Given the description of an element on the screen output the (x, y) to click on. 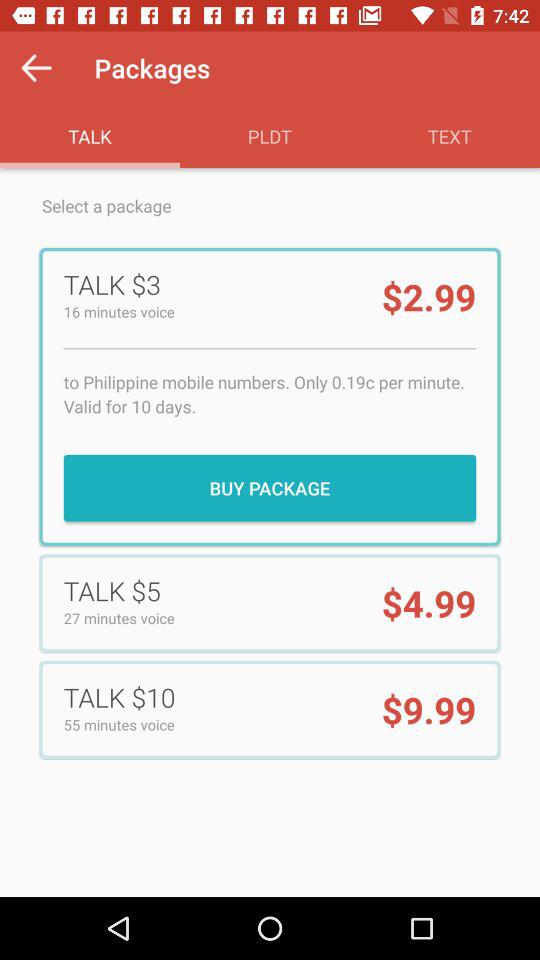
turn off the icon above the talk icon (36, 68)
